Given the description of an element on the screen output the (x, y) to click on. 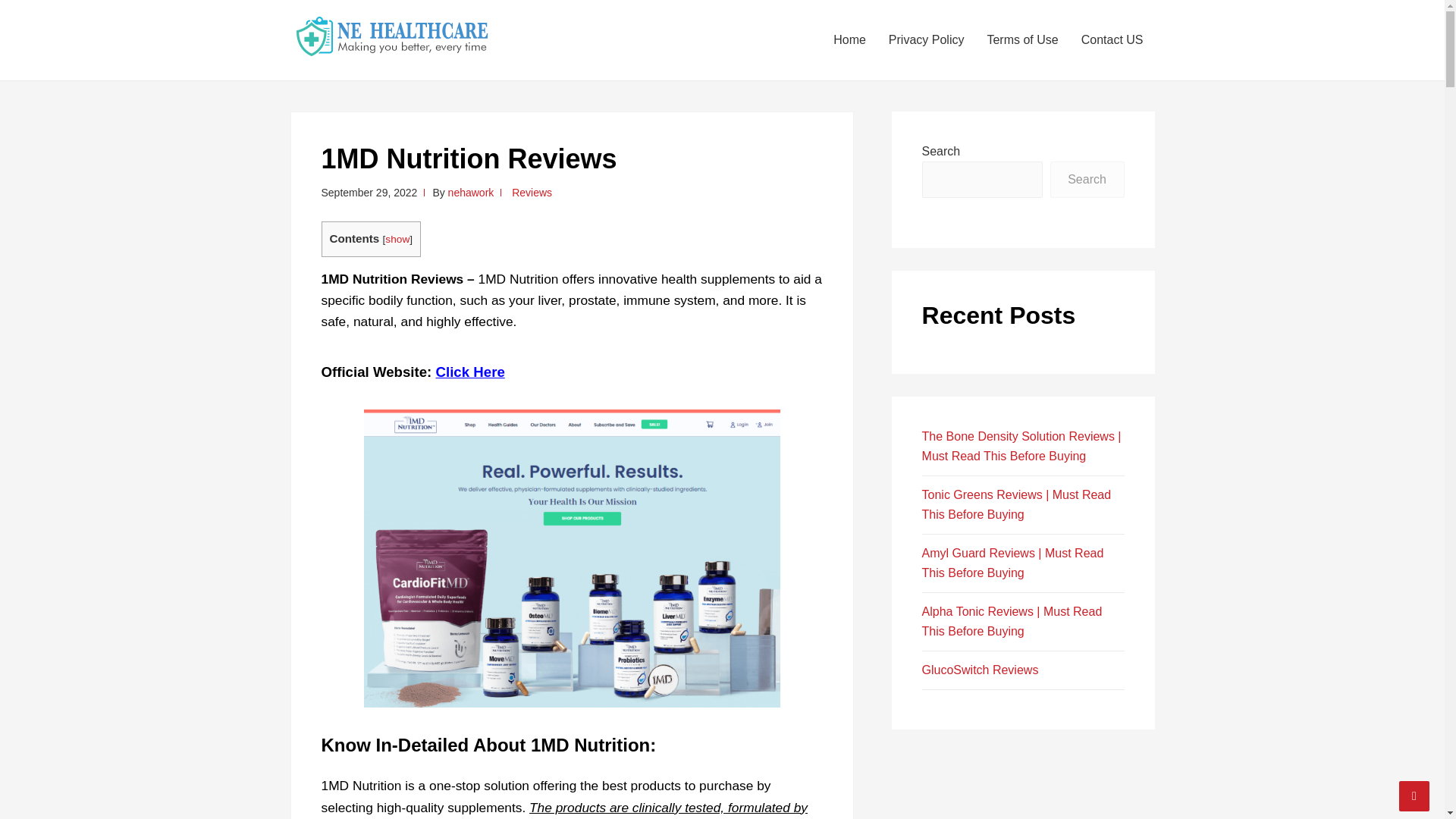
View all posts by nehawork (471, 192)
nehawork (471, 192)
Contact US (1112, 39)
Terms of Use (1021, 39)
show (397, 238)
1MD Nutrition Reviews 1 (572, 558)
Reviews (531, 192)
Click Here (470, 371)
Home (849, 39)
